Given the description of an element on the screen output the (x, y) to click on. 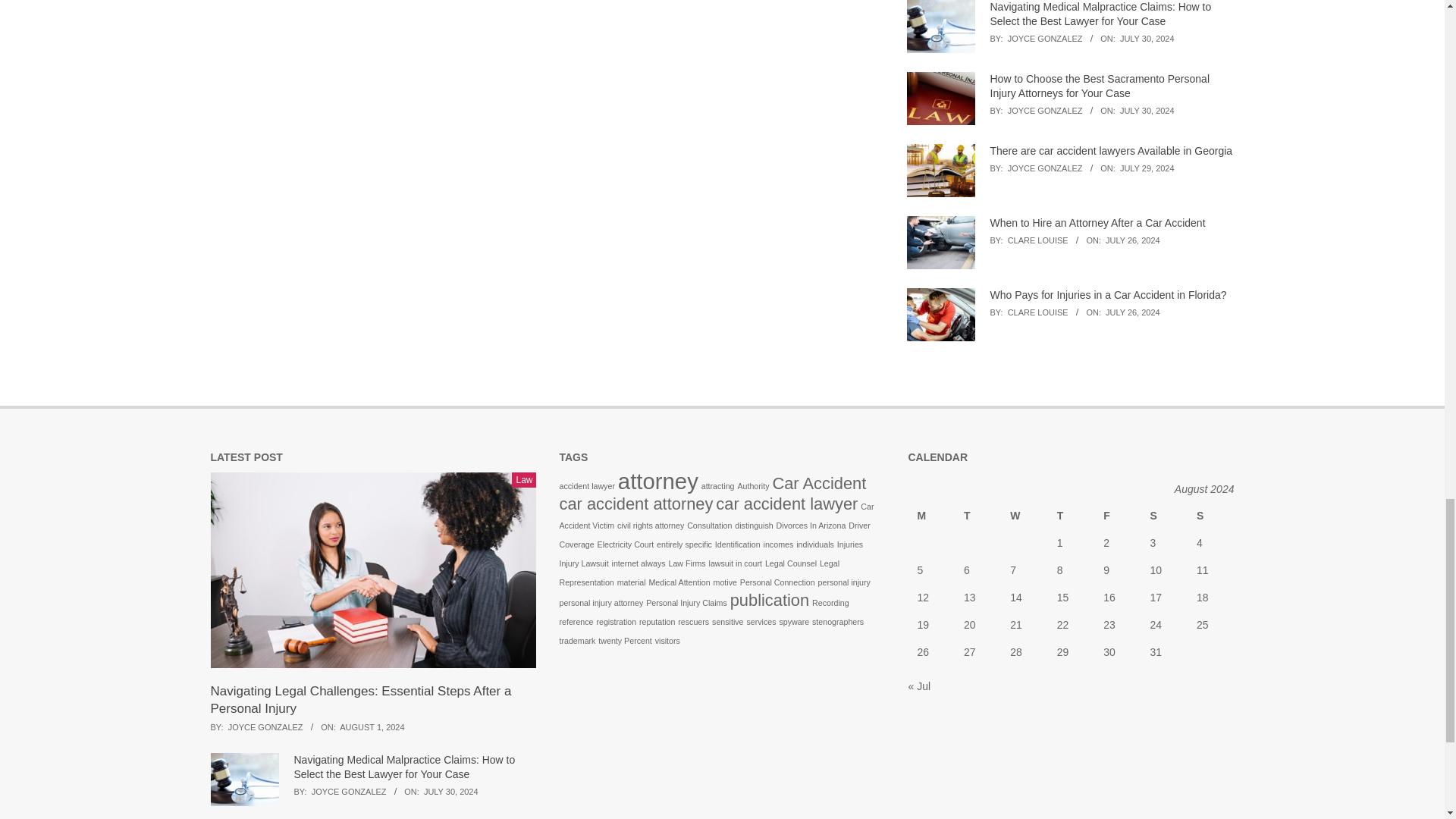
Tuesday, July 30, 2024, 5:39 am (1146, 110)
Friday, July 26, 2024, 11:19 am (1132, 311)
Posts by Clare Louise (1037, 239)
Posts by Joyce Gonzalez (1045, 167)
Posts by Joyce Gonzalez (1045, 38)
Posts by Clare Louise (1037, 311)
Tuesday, July 30, 2024, 4:34 pm (1146, 38)
Posts by Joyce Gonzalez (1045, 110)
Friday, July 26, 2024, 11:19 am (1132, 239)
Monday, July 29, 2024, 10:33 am (1146, 167)
